Given the description of an element on the screen output the (x, y) to click on. 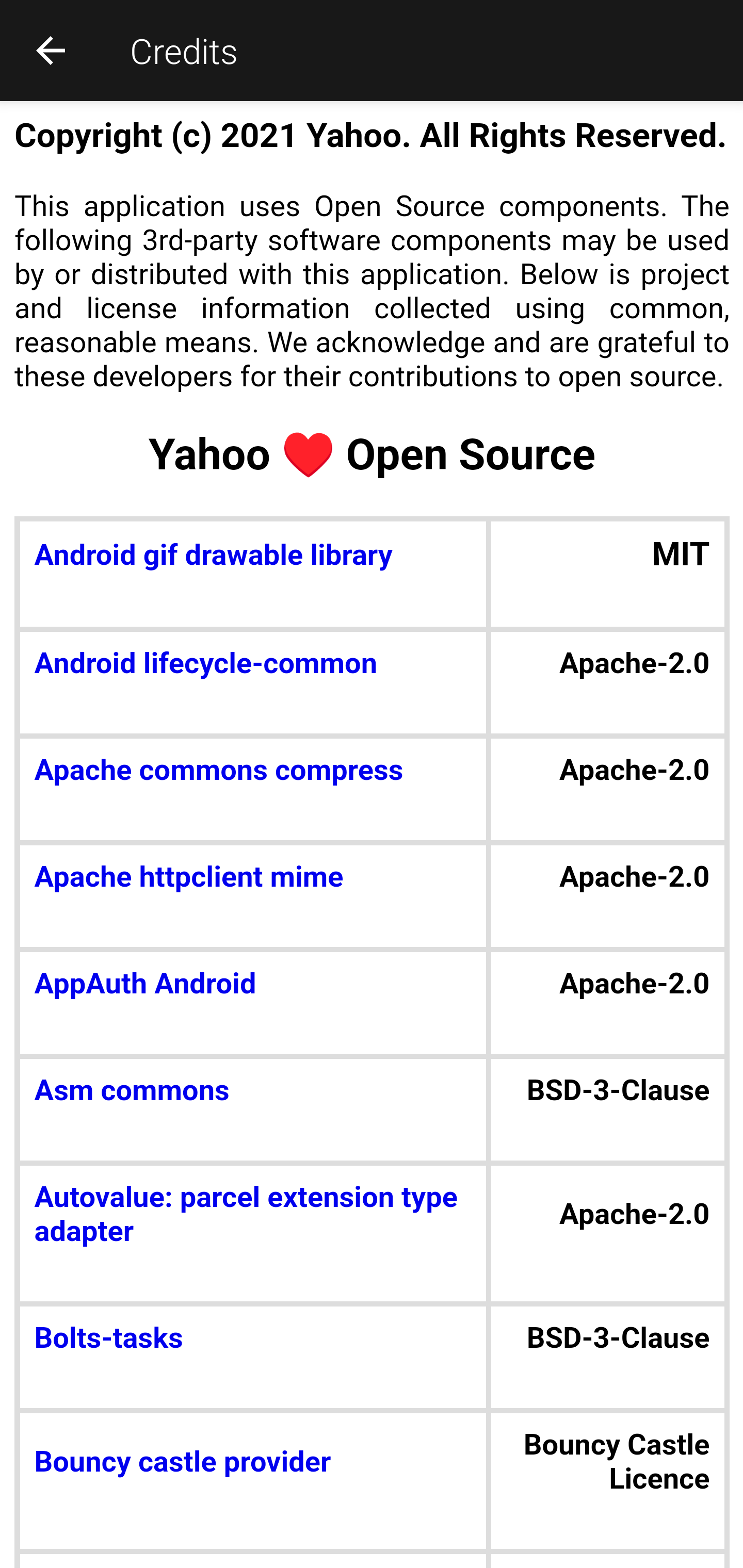
Navigate up (50, 50)
AppAuth Android AppAuth Android AppAuth Android (252, 983)
Asm commons Asm commons Asm commons (252, 1090)
Bolts-tasks Bolts-tasks Bolts-tasks (252, 1336)
